Given the description of an element on the screen output the (x, y) to click on. 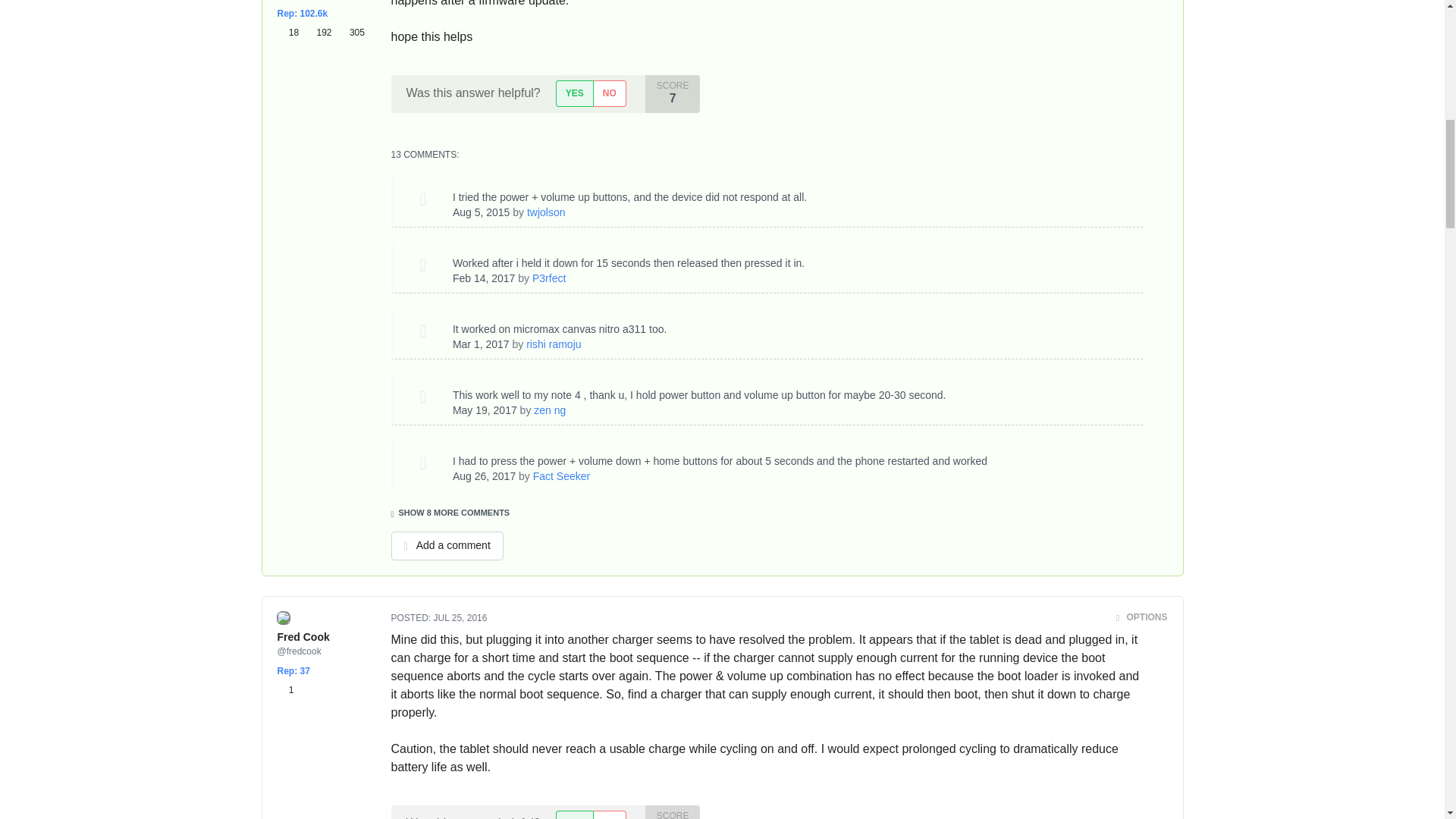
Tue, 14 Feb 2017 07:42:41 -0700 (483, 277)
192 Silver badges (320, 32)
305 Gold badges (351, 32)
18 Bronze badges (291, 32)
Wed, 01 Mar 2017 06:37:45 -0700 (480, 344)
Wed, 05 Aug 2015 13:16:27 -0700 (481, 212)
Sat, 26 Aug 2017 01:39:36 -0700 (483, 476)
Fri, 19 May 2017 04:40:24 -0700 (484, 410)
